Given the description of an element on the screen output the (x, y) to click on. 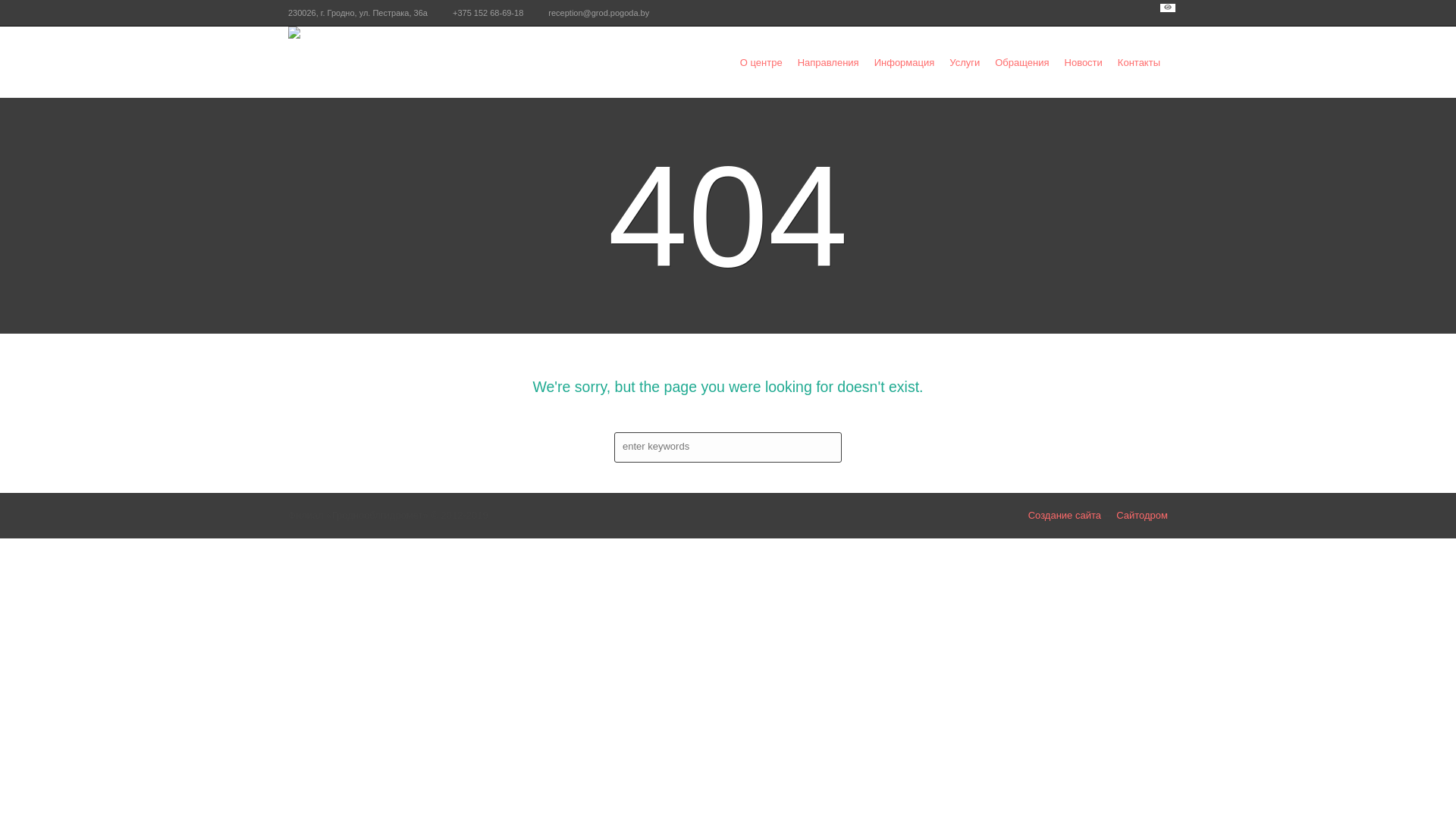
+375 152 68-69-18 Element type: text (487, 11)
reception@grod.pogoda.by Element type: text (598, 11)
